Given the description of an element on the screen output the (x, y) to click on. 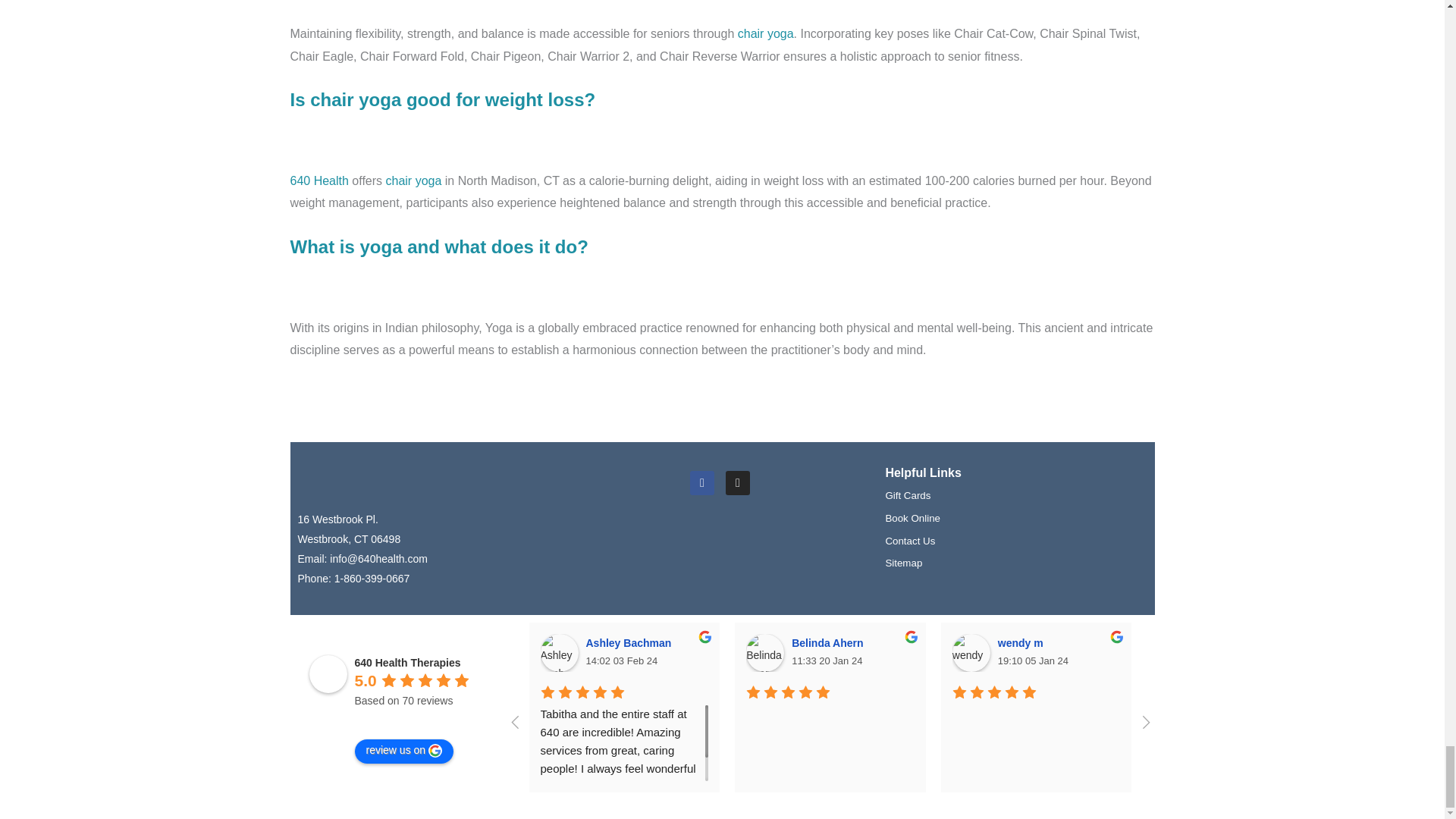
Health Therapies (318, 180)
powered by Google (409, 719)
640 Health App -Google Play store (786, 526)
640 Health Therapies (327, 673)
Ashley Bachman (559, 652)
